Given the description of an element on the screen output the (x, y) to click on. 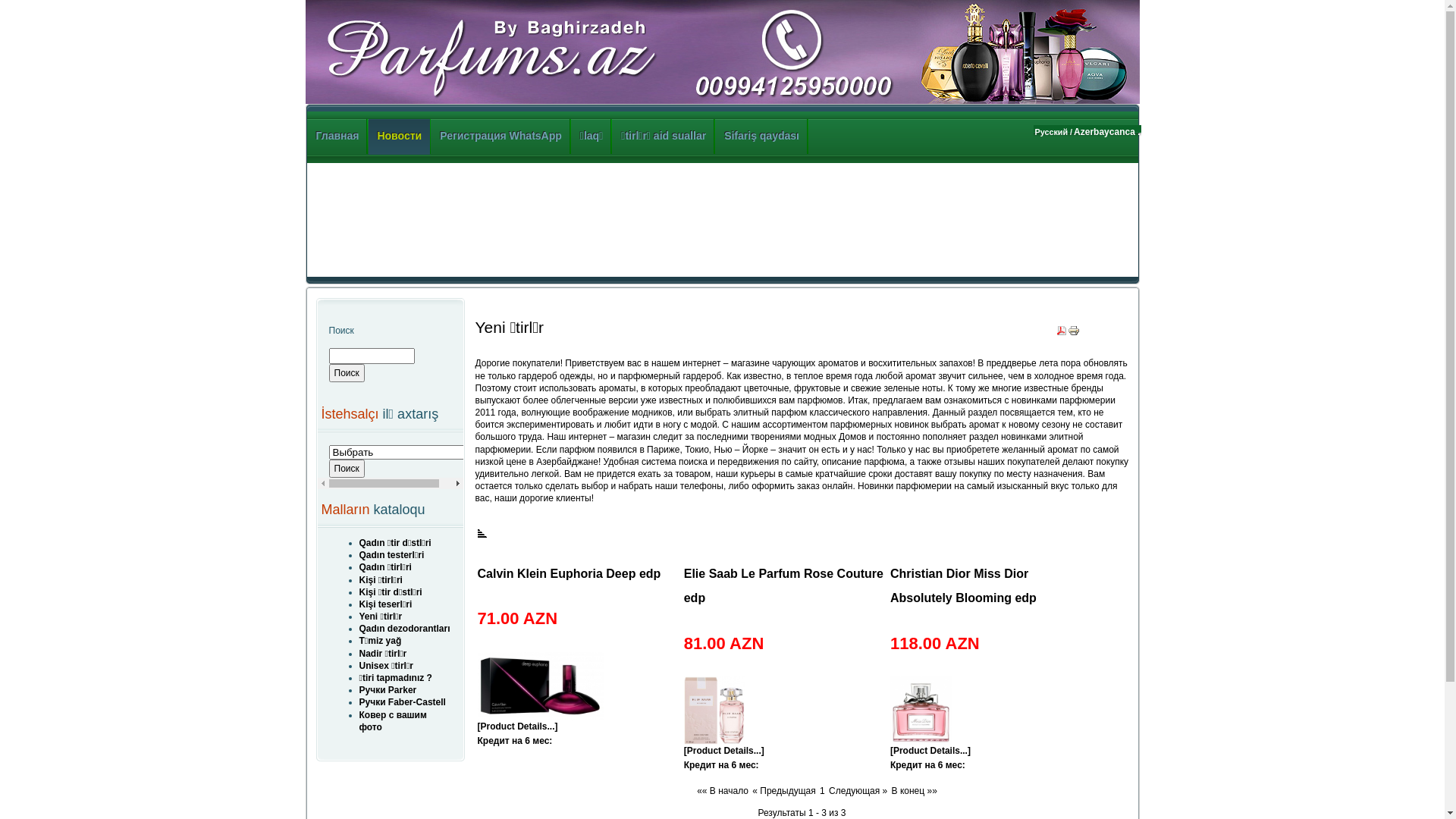
Christian Dior Miss Dior Absolutely Blooming edp Element type: text (963, 585)
Advertisement Element type: hover (689, 219)
Elie Saab Le Parfum Rose Couture edp Element type: text (783, 585)
[Product Details...] Element type: text (930, 750)
[Product Details...] Element type: text (724, 750)
Calvin Klein Euphoria Deep edp Element type: text (569, 573)
Calvin Klein Euphoria Deep edp Element type: hover (540, 686)
Azerbaycanca . Element type: text (1106, 131)
Christian Dior Miss Dior Absolutely Blooming edp Element type: hover (920, 710)
Christian Dior Miss Dior Absolutely Blooming edp Element type: hover (920, 741)
PDF Element type: hover (1061, 327)
[Product Details...] Element type: text (517, 726)
Elie Saab Le Parfum Rose Couture edp Element type: hover (714, 741)
Calvin Klein Euphoria Deep edp Element type: hover (540, 717)
Elie Saab Le Parfum Rose Couture edp Element type: hover (714, 710)
